Given the description of an element on the screen output the (x, y) to click on. 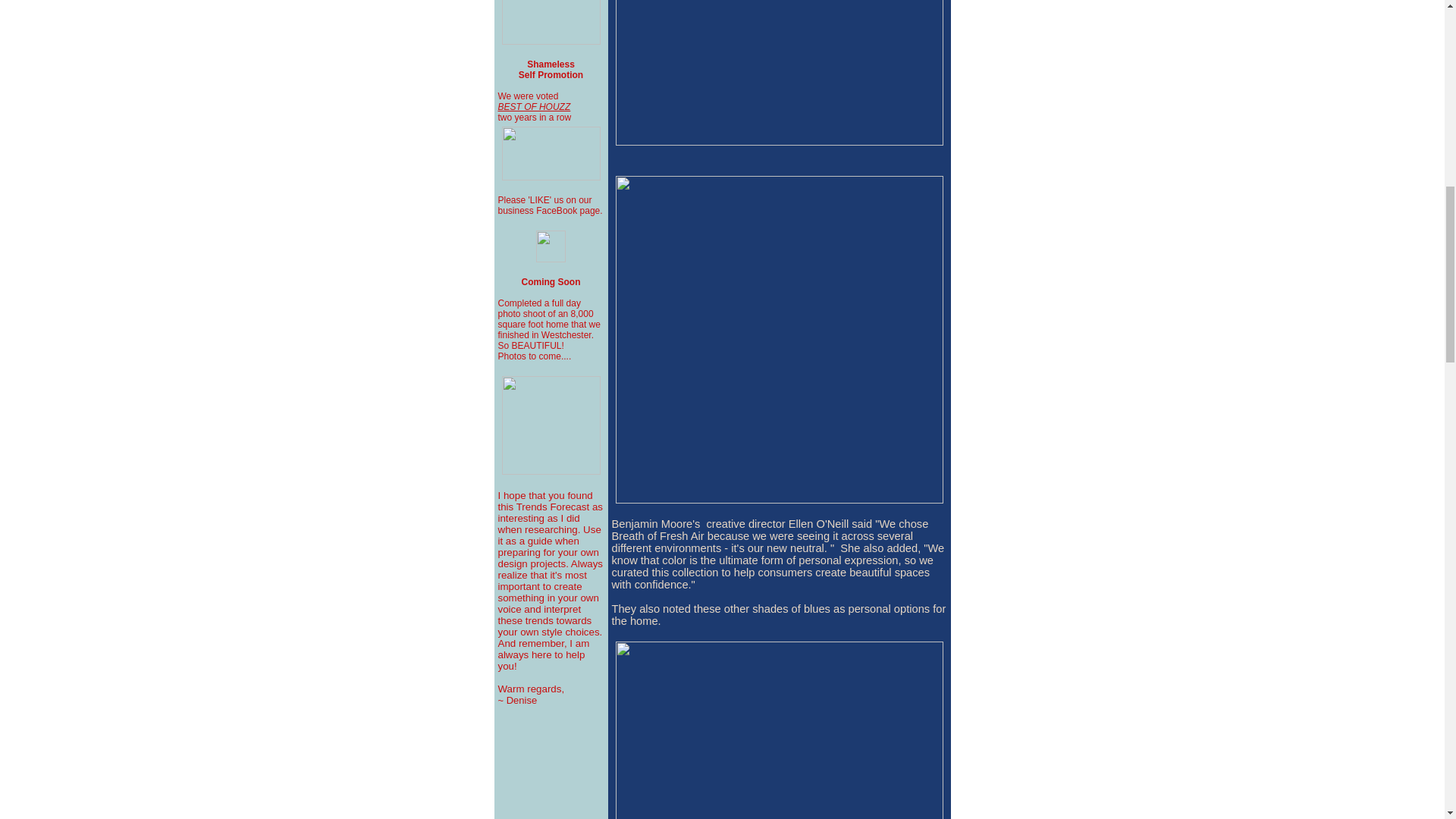
BEST OF HOUZZ (533, 106)
